Given the description of an element on the screen output the (x, y) to click on. 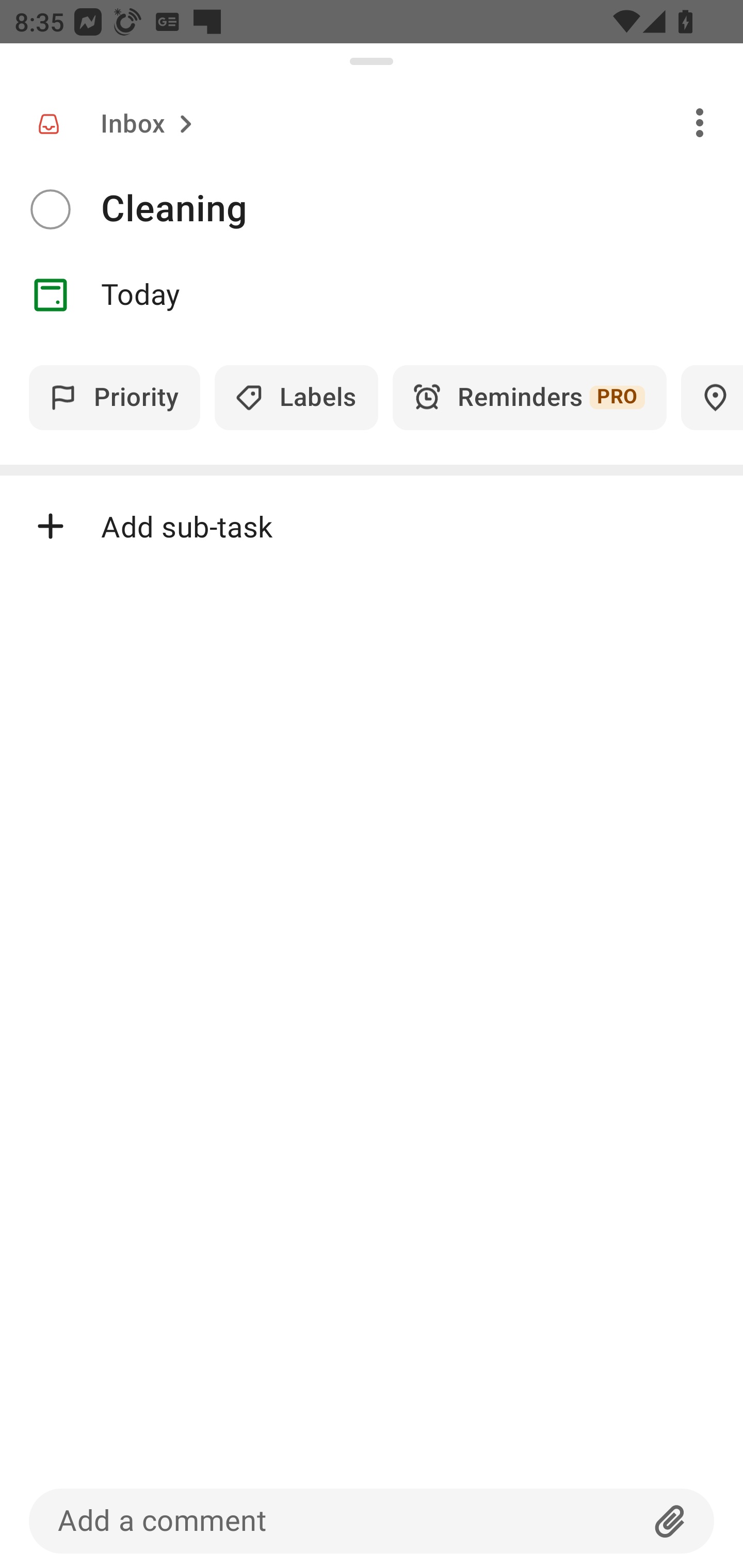
Overflow menu (699, 122)
Complete (50, 209)
Cleaning​ (422, 209)
Date Today (371, 295)
Priority (113, 397)
Labels (296, 397)
Reminders PRO (529, 397)
Locations PRO (712, 397)
Add sub-task (371, 525)
Add a comment Attachment (371, 1520)
Attachment (670, 1520)
